Given the description of an element on the screen output the (x, y) to click on. 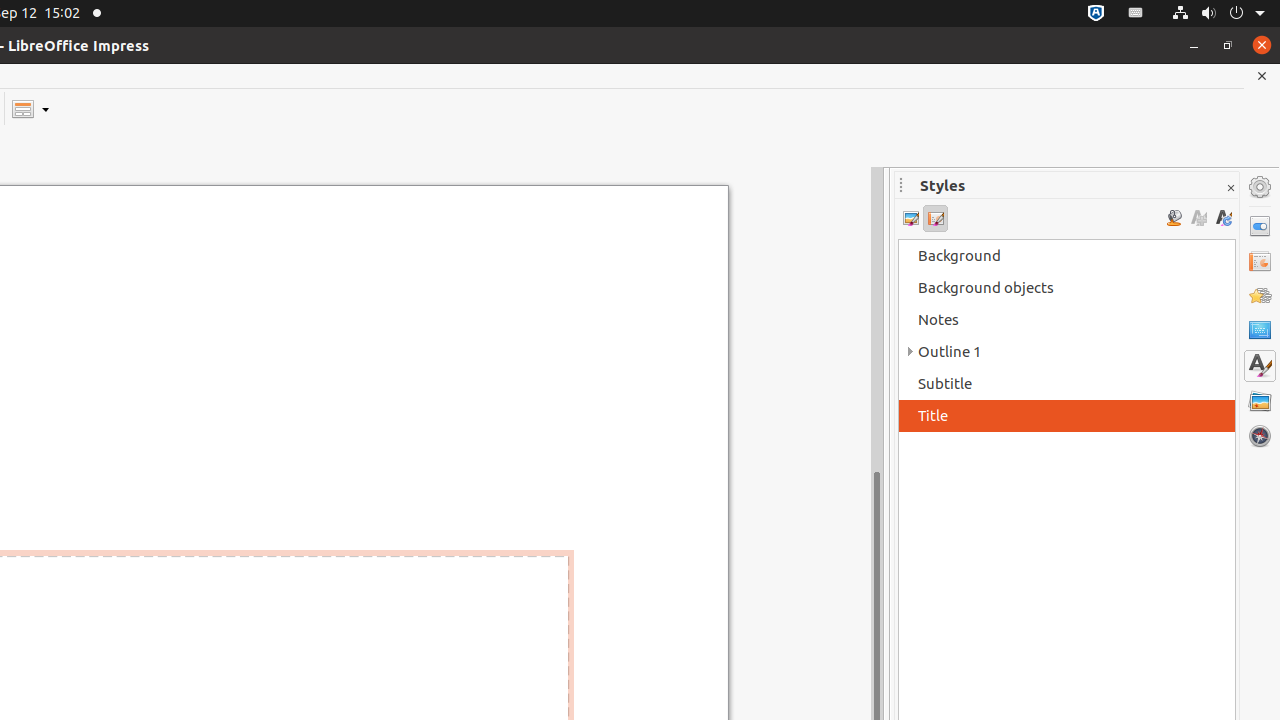
Navigator Element type: radio-button (1260, 436)
System Element type: menu (1218, 13)
:1.72/StatusNotifierItem Element type: menu (1096, 13)
New Style from Selection Element type: push-button (1198, 218)
Styles Element type: radio-button (1260, 366)
